Given the description of an element on the screen output the (x, y) to click on. 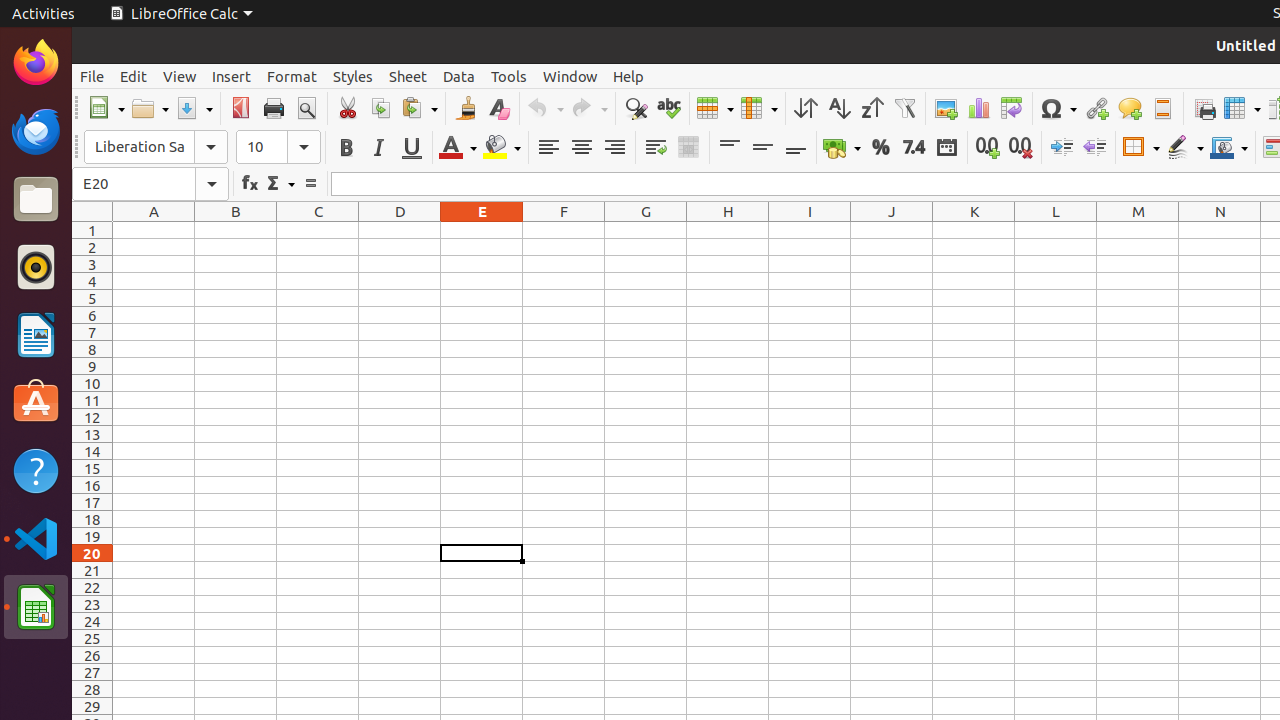
Edit Element type: menu (133, 76)
Font Color Element type: push-button (458, 147)
Border Color Element type: push-button (1229, 147)
Pivot Table Element type: push-button (1011, 108)
E1 Element type: table-cell (482, 230)
